Given the description of an element on the screen output the (x, y) to click on. 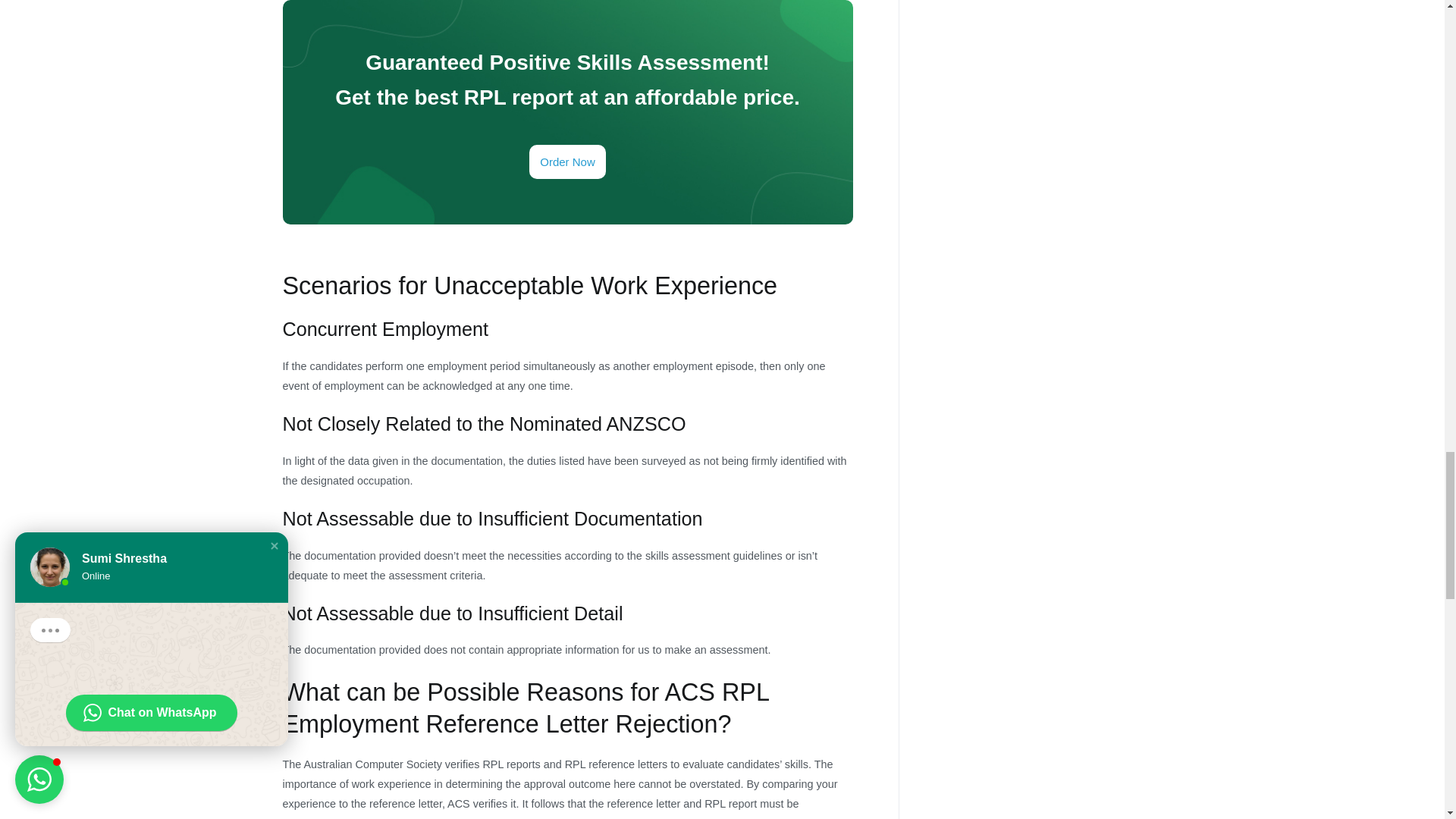
Order Now (567, 161)
Order Now (567, 161)
